Given the description of an element on the screen output the (x, y) to click on. 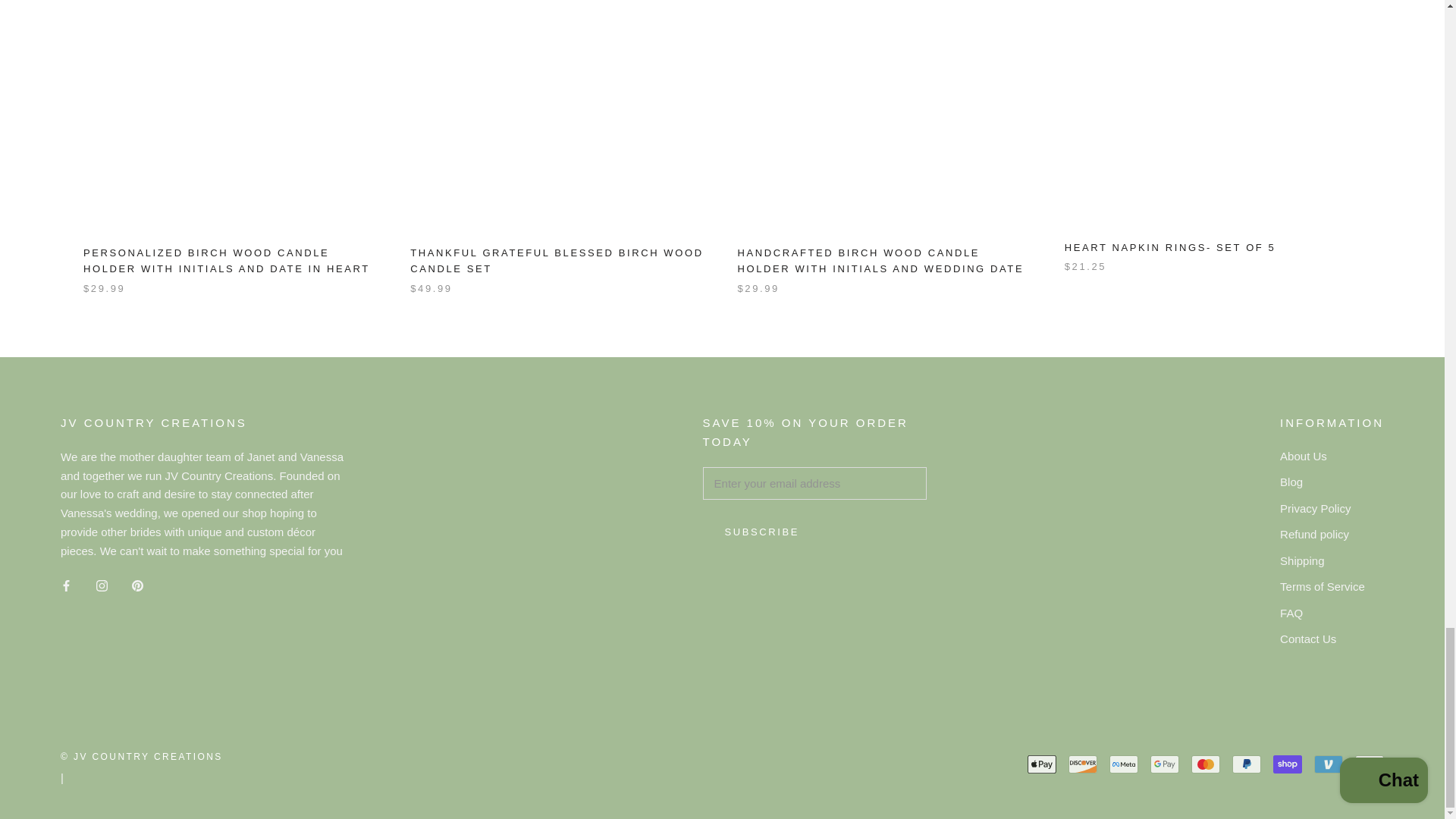
Discover (1082, 764)
Google Pay (1164, 764)
Meta Pay (1123, 764)
PayPal (1245, 764)
Apple Pay (1042, 764)
Venmo (1328, 764)
Shop Pay (1286, 764)
Mastercard (1205, 764)
Visa (1369, 764)
